Given the description of an element on the screen output the (x, y) to click on. 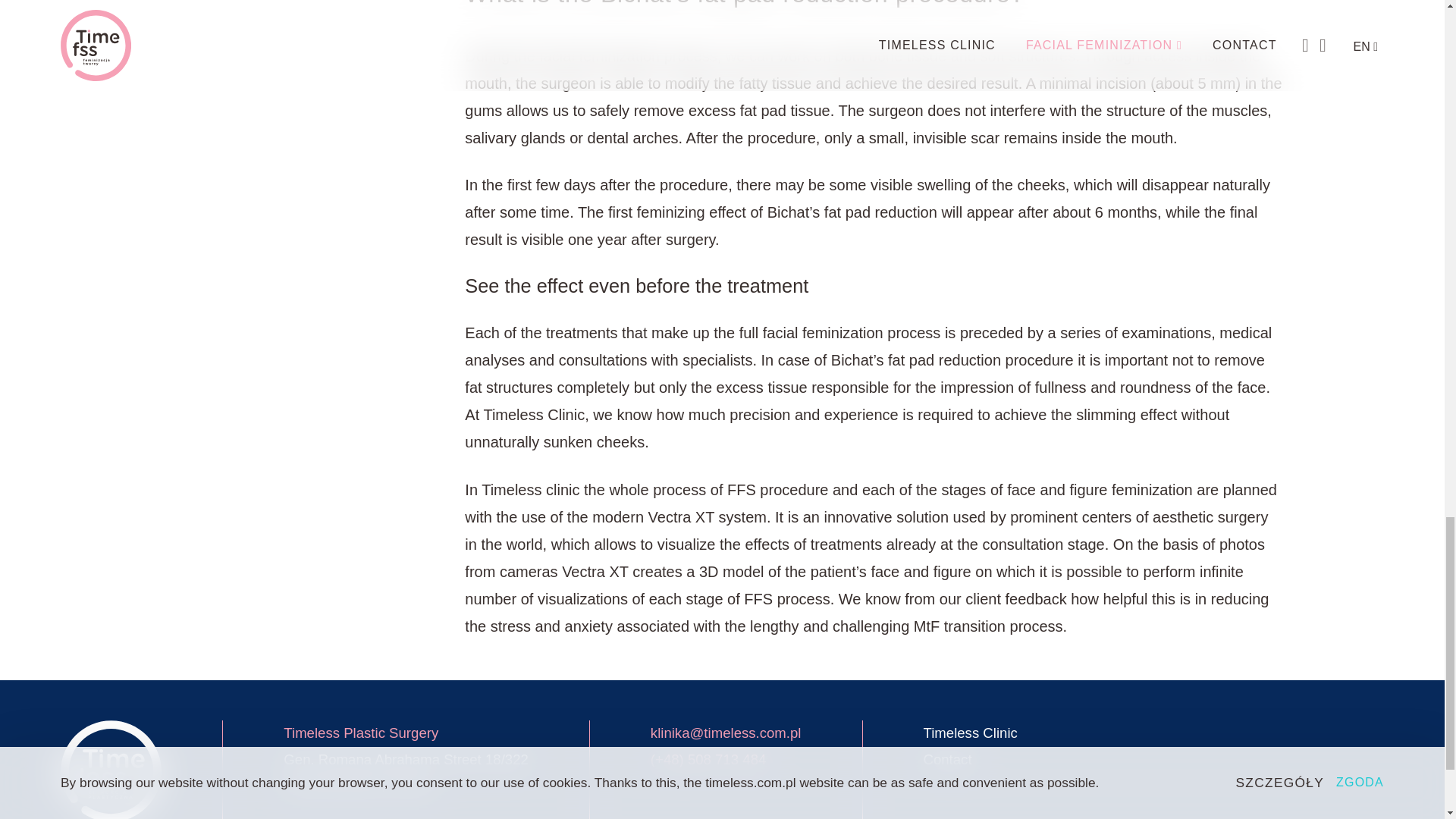
Contact (970, 759)
Timeless Clinic (970, 733)
Timeless Plastic Surgery (360, 732)
